Given the description of an element on the screen output the (x, y) to click on. 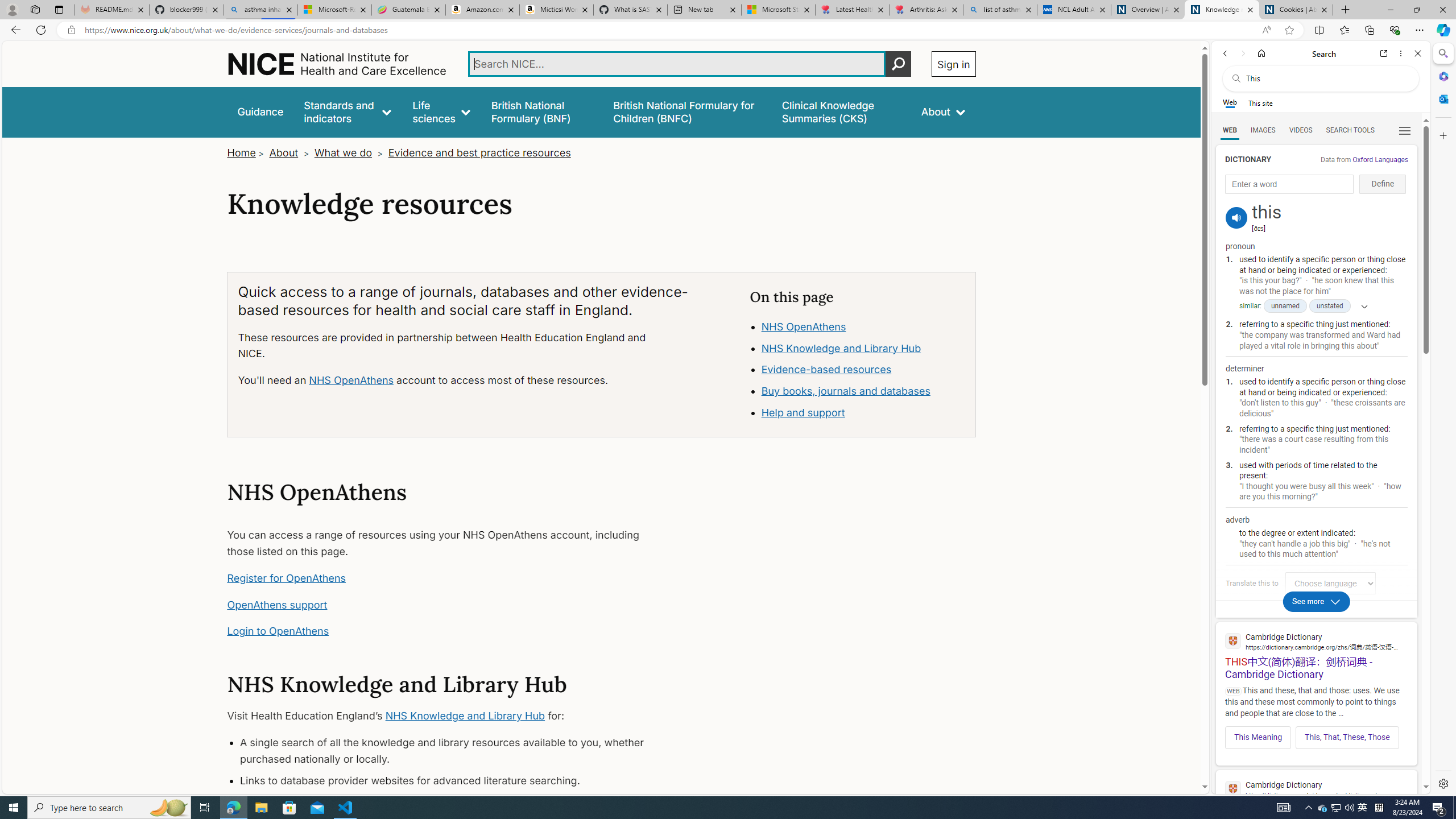
Evidence-based resources (826, 369)
NHS OpenAthens (803, 326)
Evidence-based resources (863, 369)
Enter a word (1289, 184)
false (841, 111)
unnamed (1285, 305)
